Given the description of an element on the screen output the (x, y) to click on. 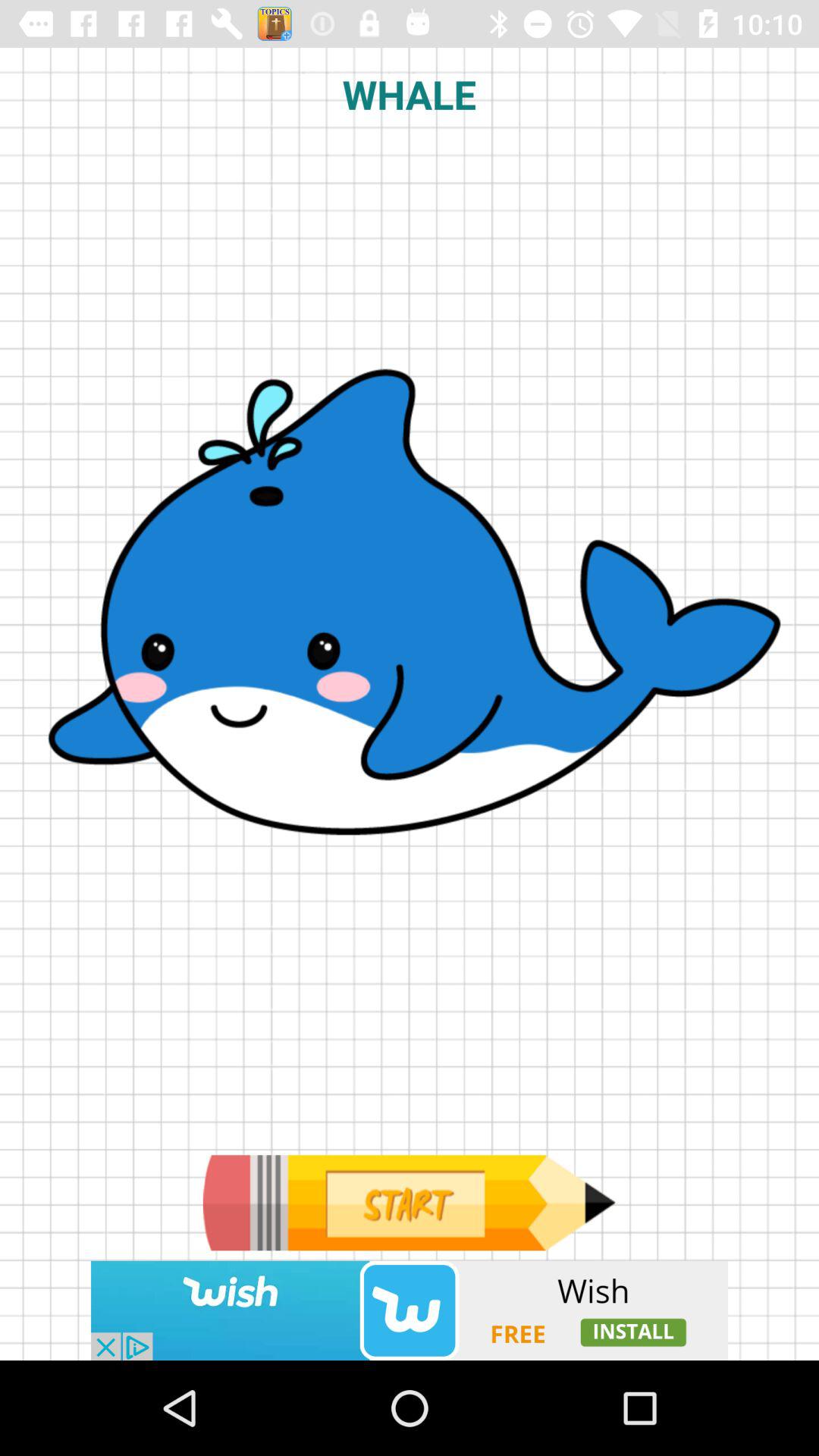
advertisement page (409, 1202)
